Given the description of an element on the screen output the (x, y) to click on. 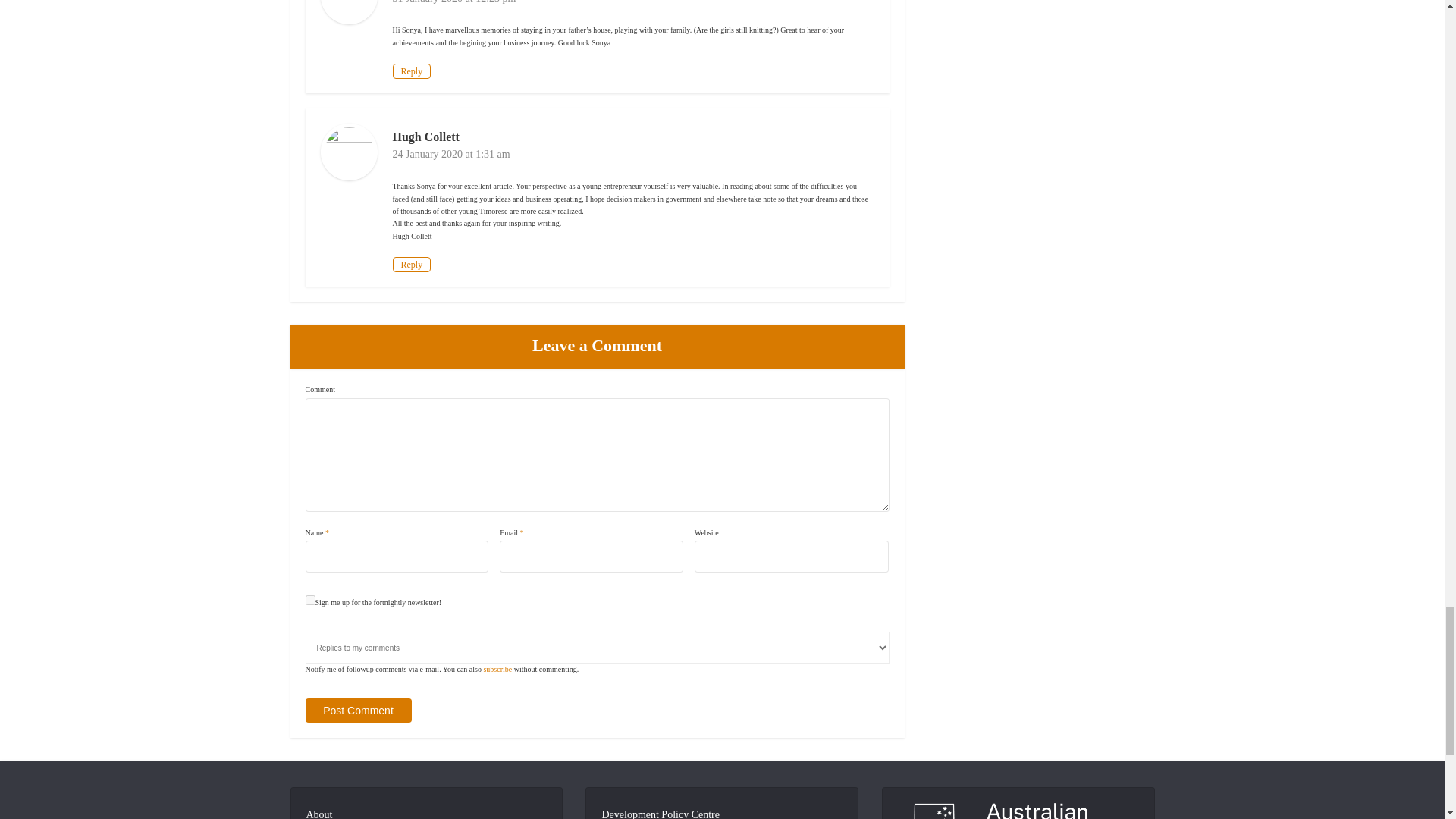
Post Comment (357, 710)
1 (309, 600)
